Given the description of an element on the screen output the (x, y) to click on. 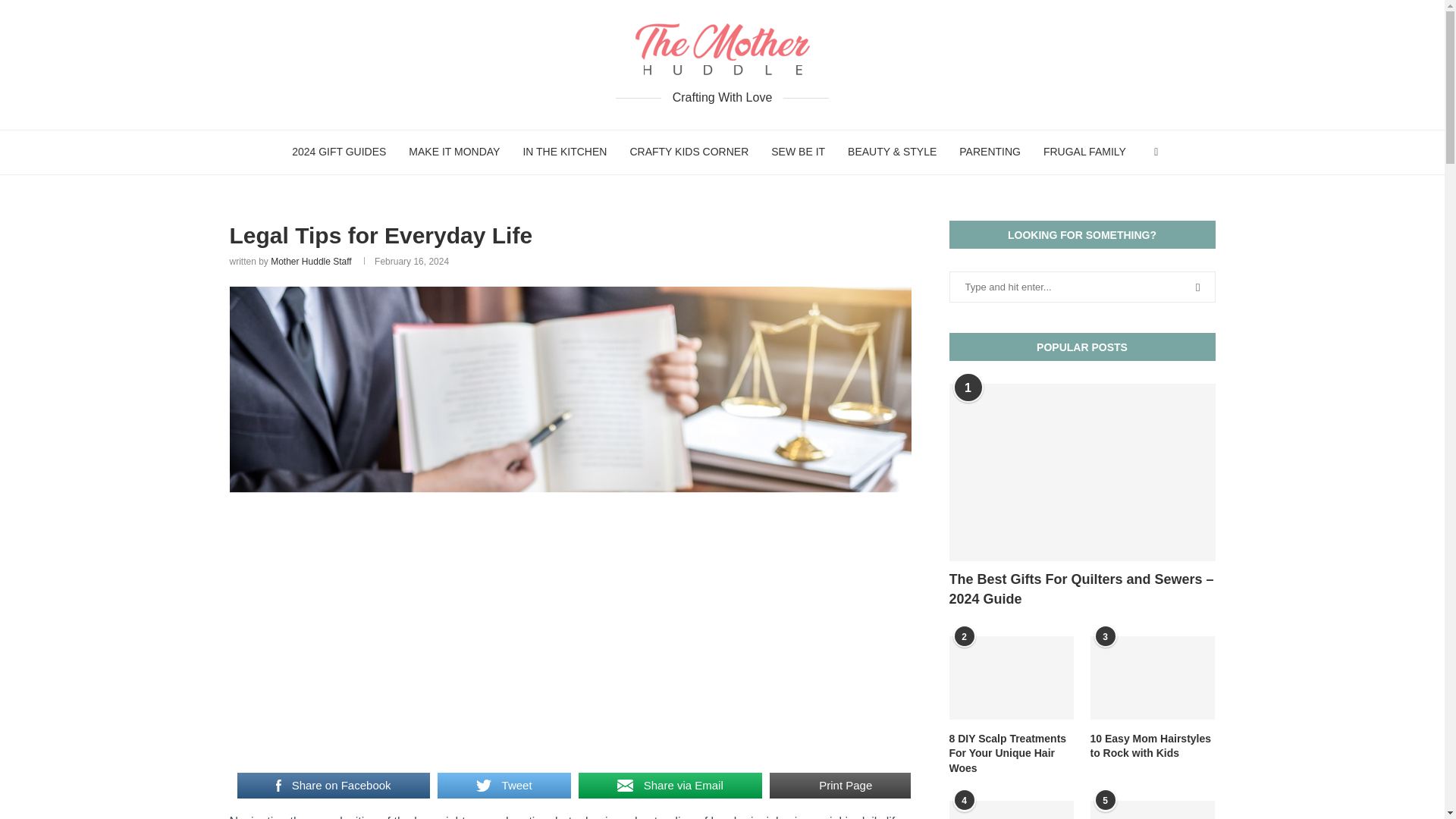
Mother Huddle Staff (311, 261)
PARENTING (989, 152)
Print Page (840, 785)
Share via Email (669, 785)
2024 GIFT GUIDES (339, 152)
MAKE IT MONDAY (454, 152)
Tweet (504, 785)
Share on Facebook (332, 785)
SEW BE IT (797, 152)
